Given the description of an element on the screen output the (x, y) to click on. 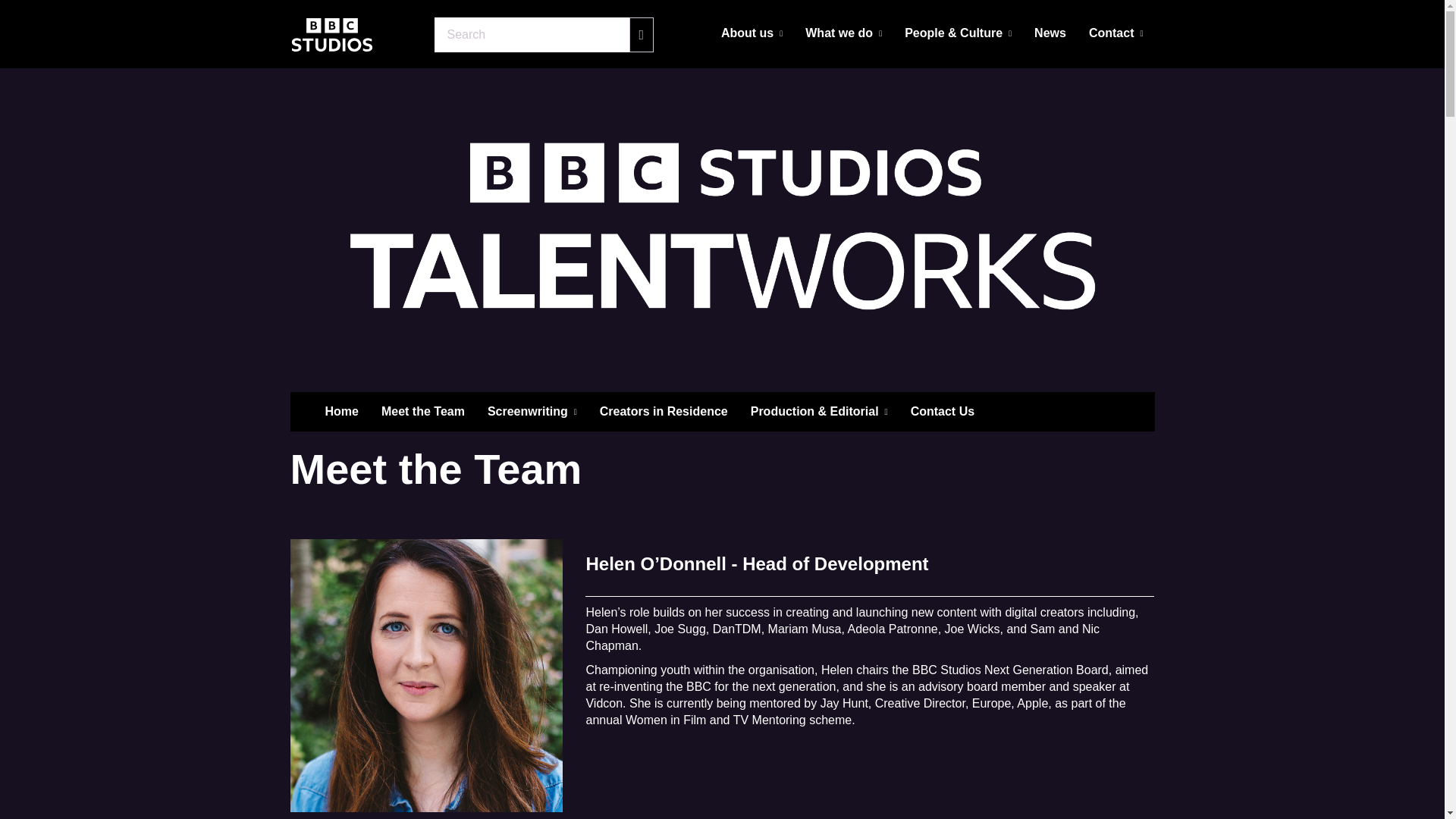
Contact Us (942, 411)
Meet the Team (422, 411)
News (1050, 33)
What we do (843, 33)
Screenwriting (532, 411)
About us (751, 33)
Home (341, 411)
Contact (1115, 33)
Creators in Residence (663, 411)
